Given the description of an element on the screen output the (x, y) to click on. 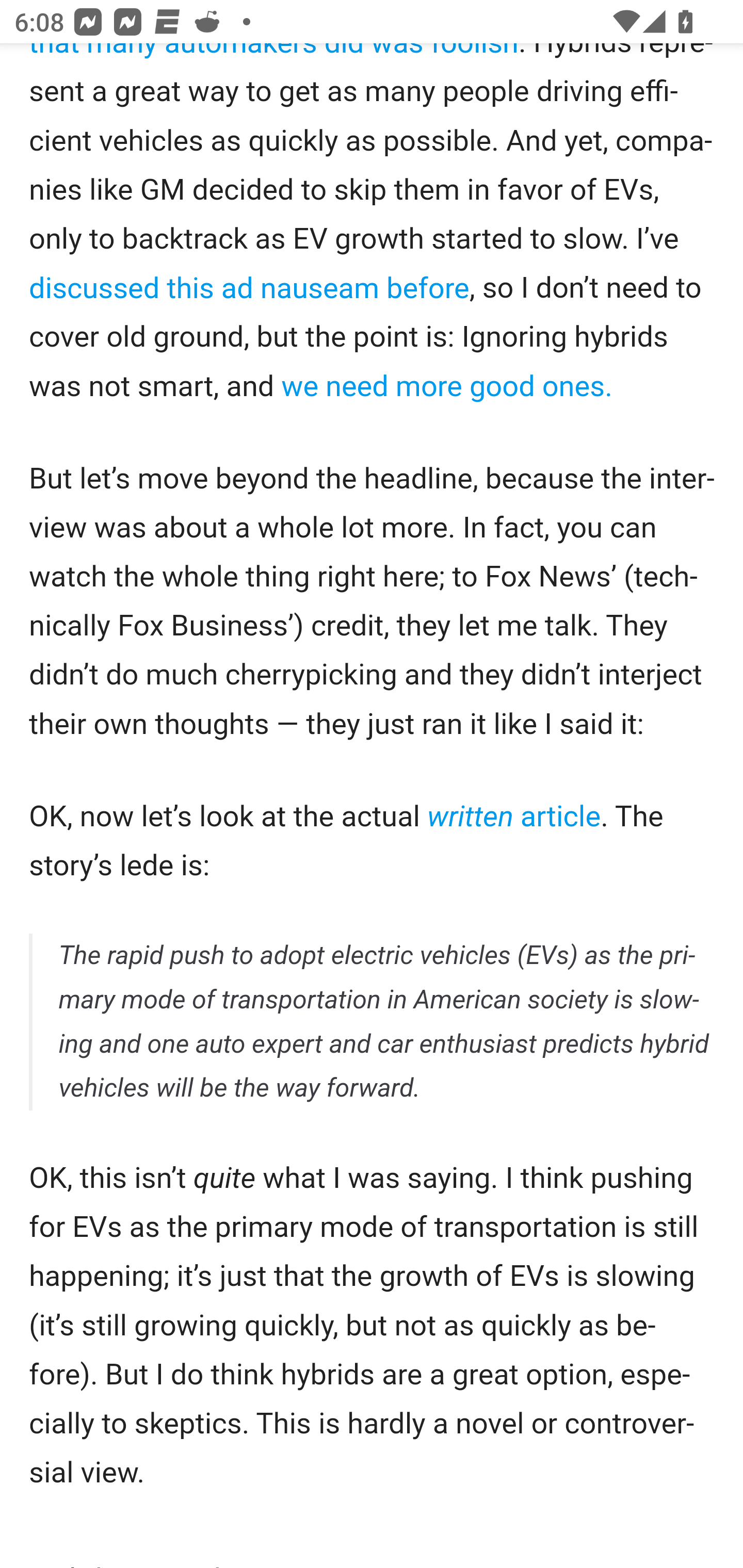
discussed this ad nauseam before (248, 288)
we need more good ones. (446, 387)
written article written  article (513, 818)
